Given the description of an element on the screen output the (x, y) to click on. 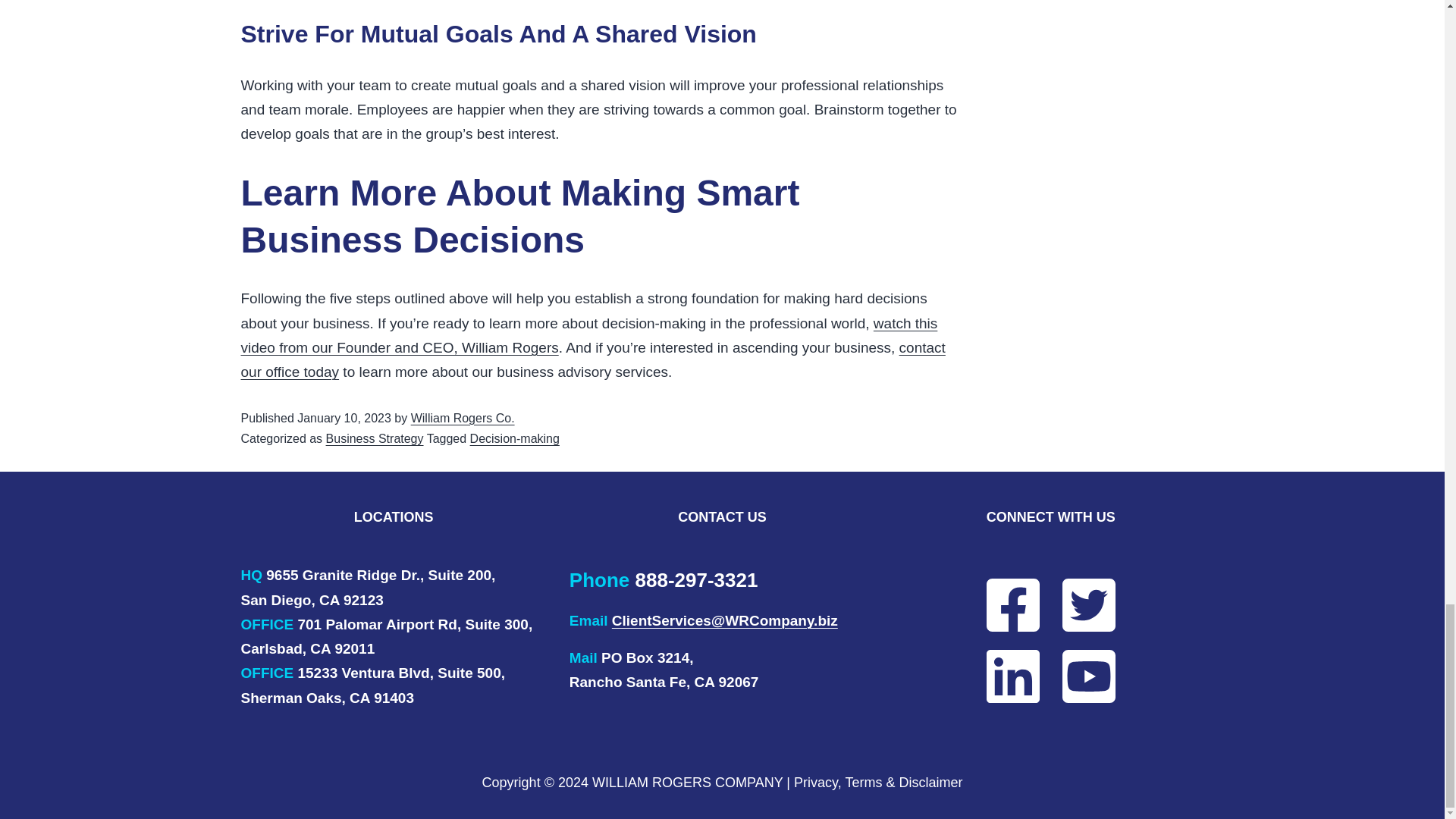
Business Strategy (374, 438)
watch this video from our Founder and CEO, William Rogers (589, 335)
Subscribe to Will's YouTube channel (1101, 676)
Connect with Will on LinkedIn (999, 676)
Follow Will on Twitter (1101, 604)
Follow Will on Facebook (999, 604)
Decision-making (514, 438)
William Rogers Co. (462, 418)
contact our office today (592, 359)
